Given the description of an element on the screen output the (x, y) to click on. 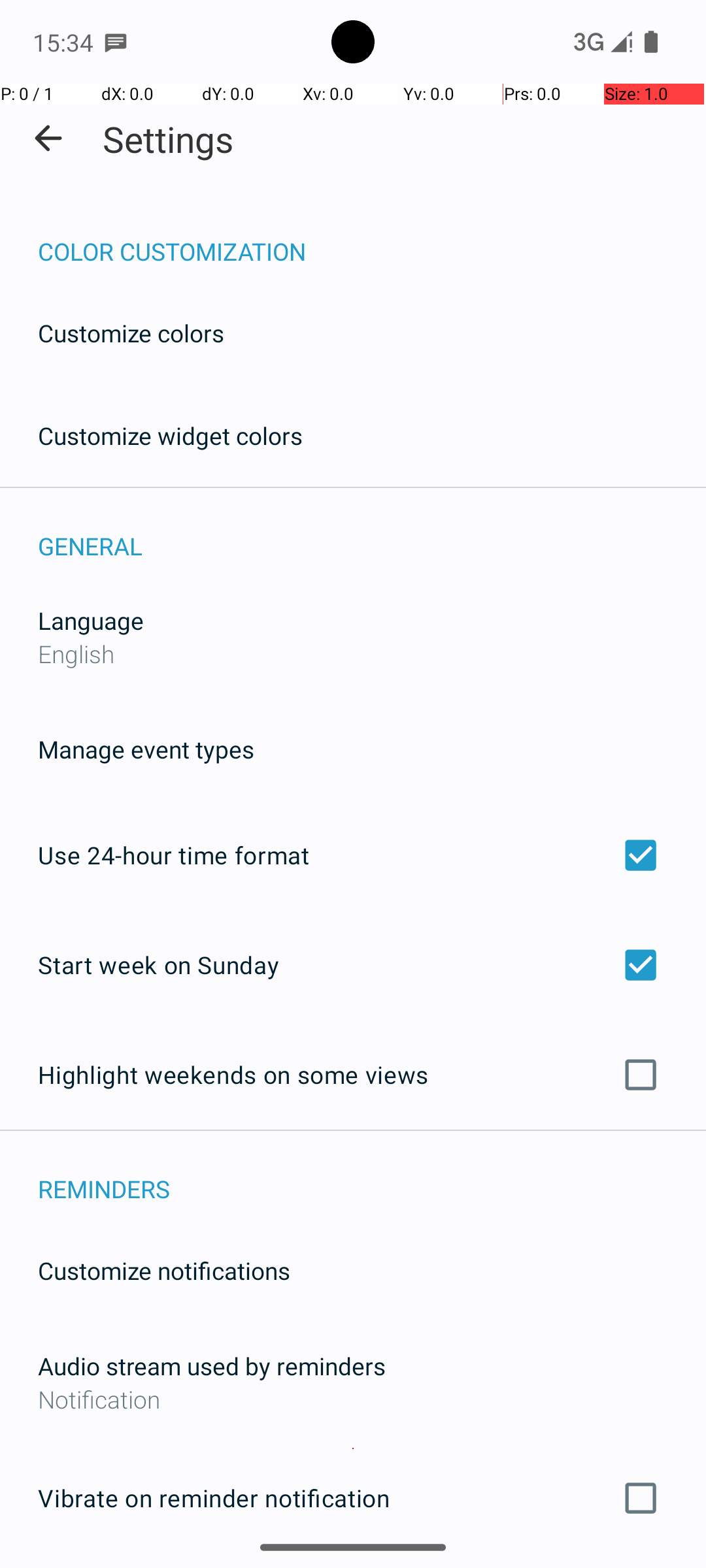
App Language Element type: android.widget.FrameLayout (353, 195)
Suggested Element type: android.widget.TextView (353, 676)
System default Element type: android.widget.TextView (353, 892)
Español (Estados Unidos) Element type: android.widget.TextView (353, 1016)
All languages Element type: android.widget.TextView (353, 1109)
Azərbaycan (latın) Element type: android.widget.TextView (353, 1201)
Brezhoneg Element type: android.widget.TextView (353, 1325)
Català Element type: android.widget.TextView (353, 1448)
Čeština Element type: android.widget.TextView (353, 1518)
English (United States) Element type: android.widget.TextView (307, 769)
